Given the description of an element on the screen output the (x, y) to click on. 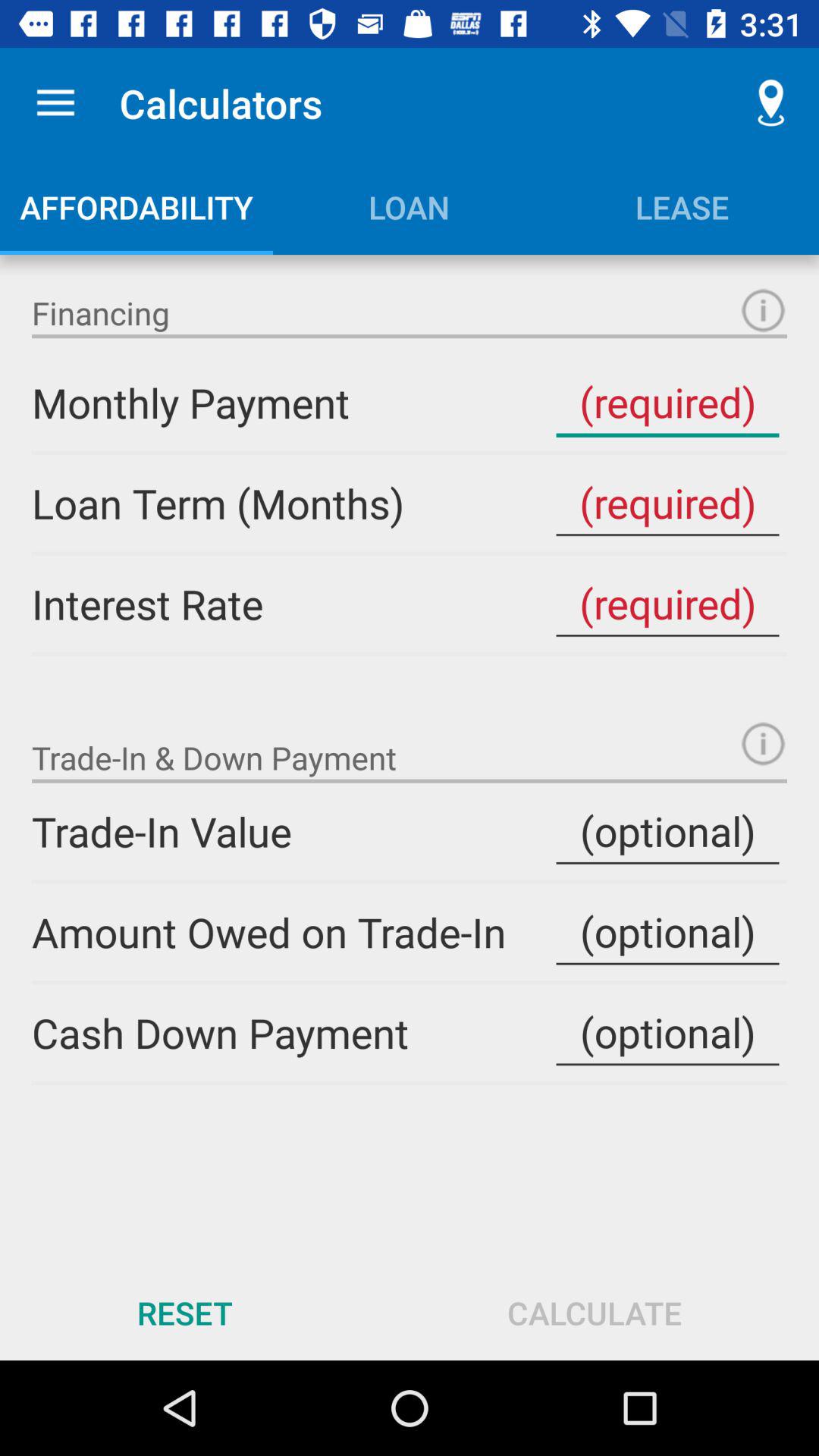
enter the monthly payment here (667, 402)
